Given the description of an element on the screen output the (x, y) to click on. 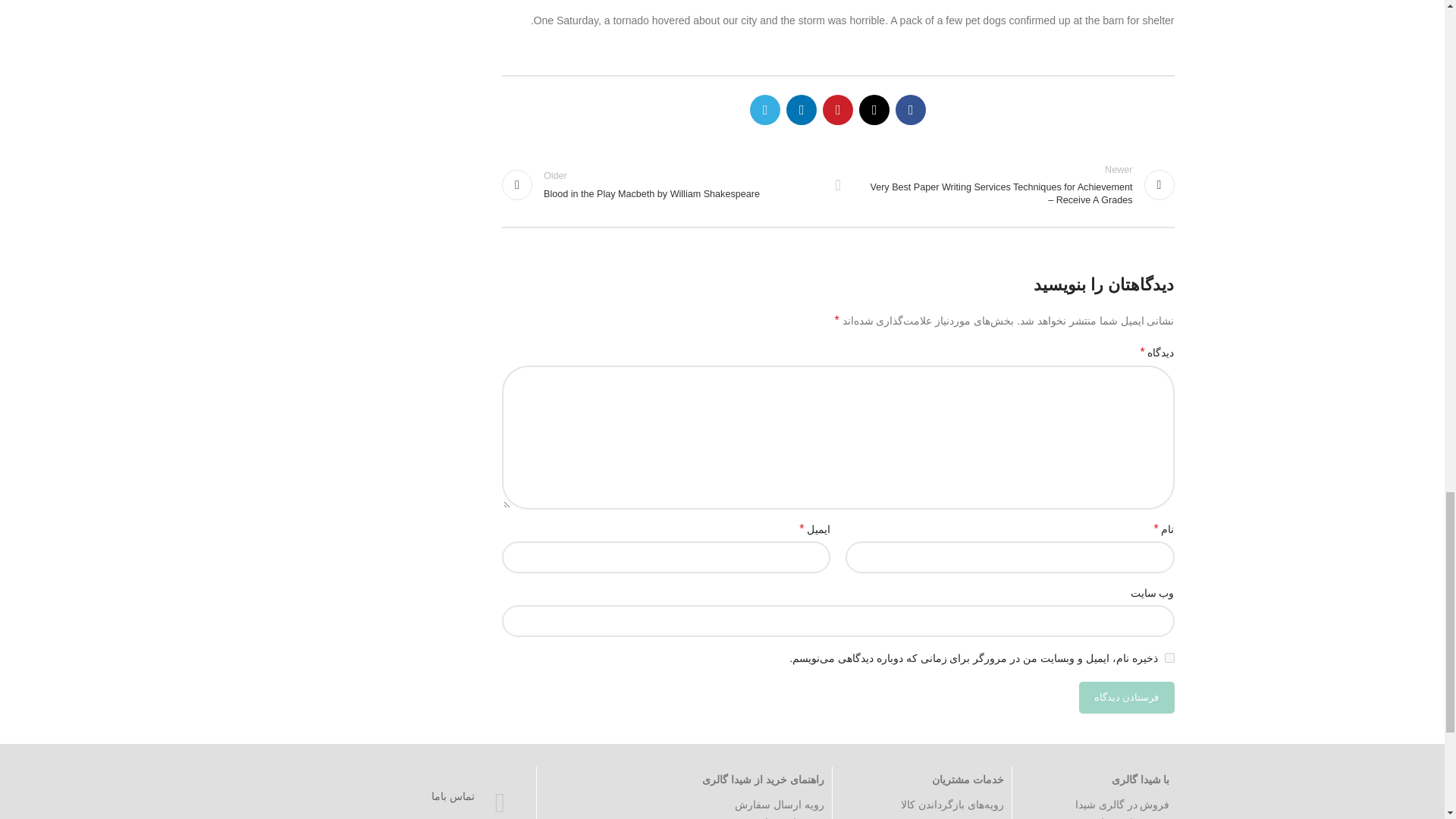
yes (663, 184)
Back to list (1169, 657)
